Given the description of an element on the screen output the (x, y) to click on. 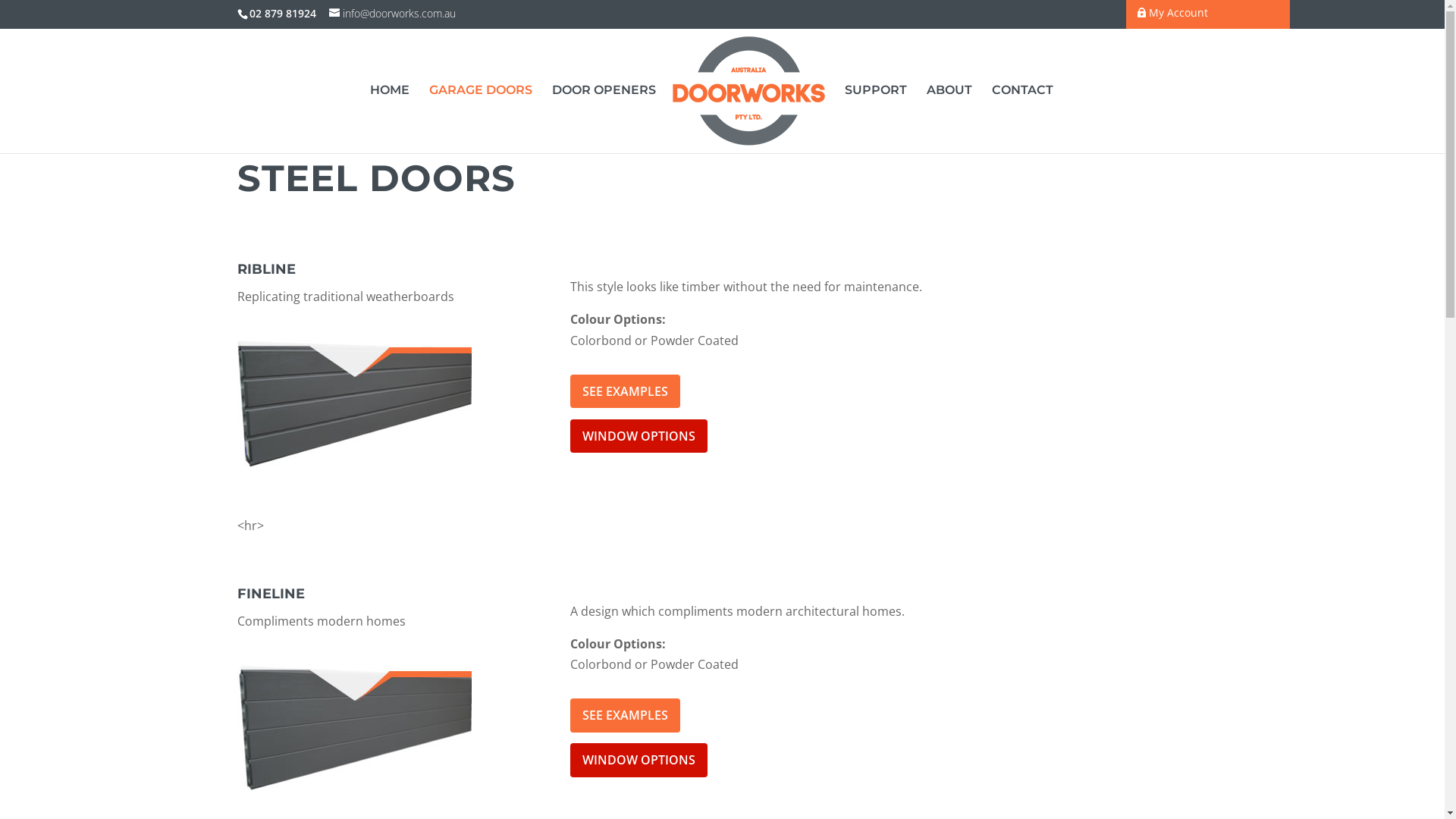
WINDOW OPTIONS Element type: text (638, 759)
02 879 81924 Element type: text (280, 13)
SUPPORT Element type: text (875, 96)
My Account Element type: text (1172, 13)
info@doorworks.com.au Element type: text (392, 13)
SEE EXAMPLES Element type: text (625, 390)
GARAGE DOORS Element type: text (480, 96)
WINDOW OPTIONS Element type: text (638, 435)
HOME Element type: text (389, 96)
SEE EXAMPLES Element type: text (625, 714)
CONTACT Element type: text (1022, 96)
DOOR OPENERS Element type: text (603, 96)
ABOUT Element type: text (949, 96)
